Given the description of an element on the screen output the (x, y) to click on. 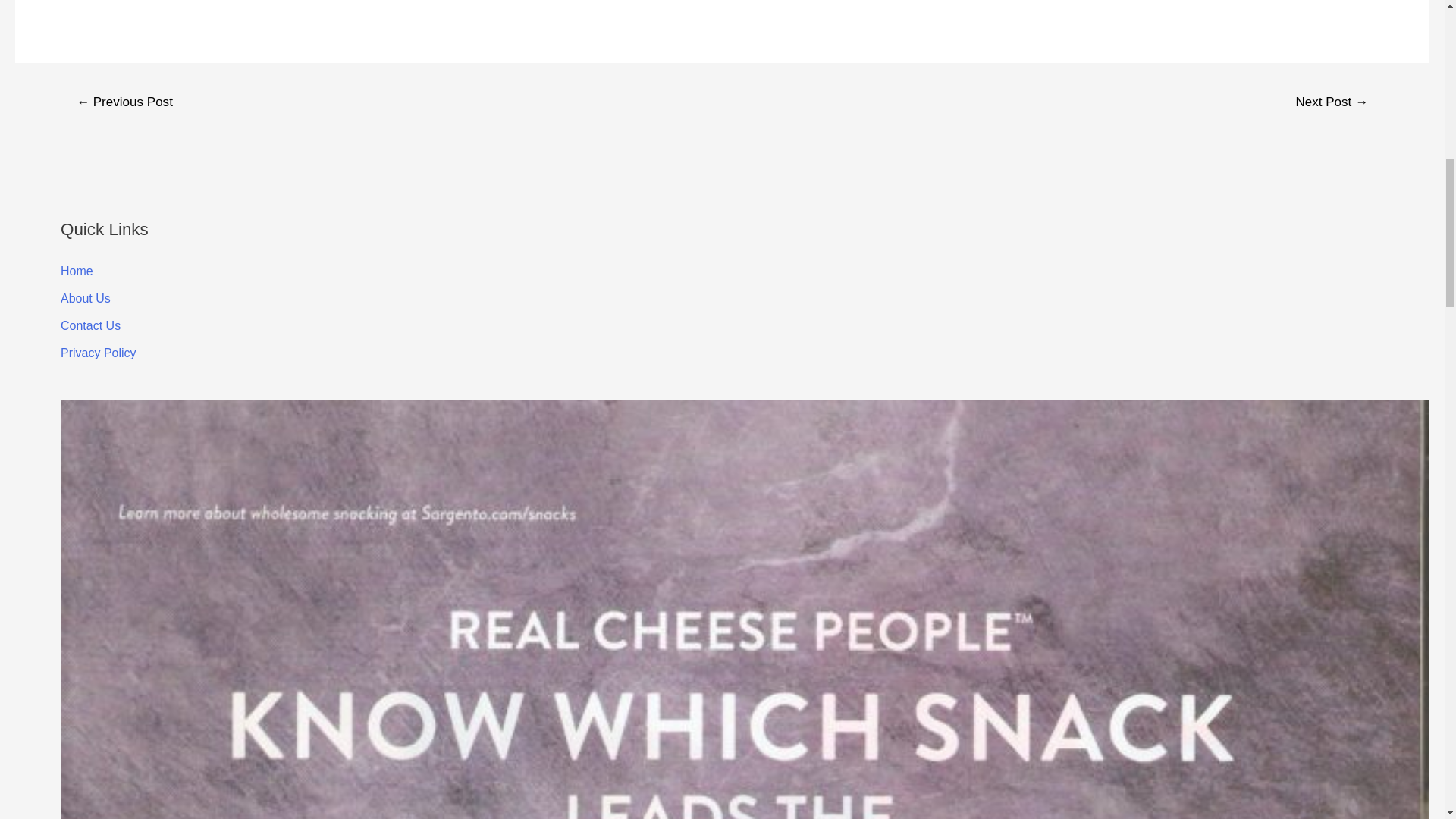
About Us (85, 297)
Contact Us (90, 325)
Privacy Policy (98, 352)
Home (77, 270)
